Given the description of an element on the screen output the (x, y) to click on. 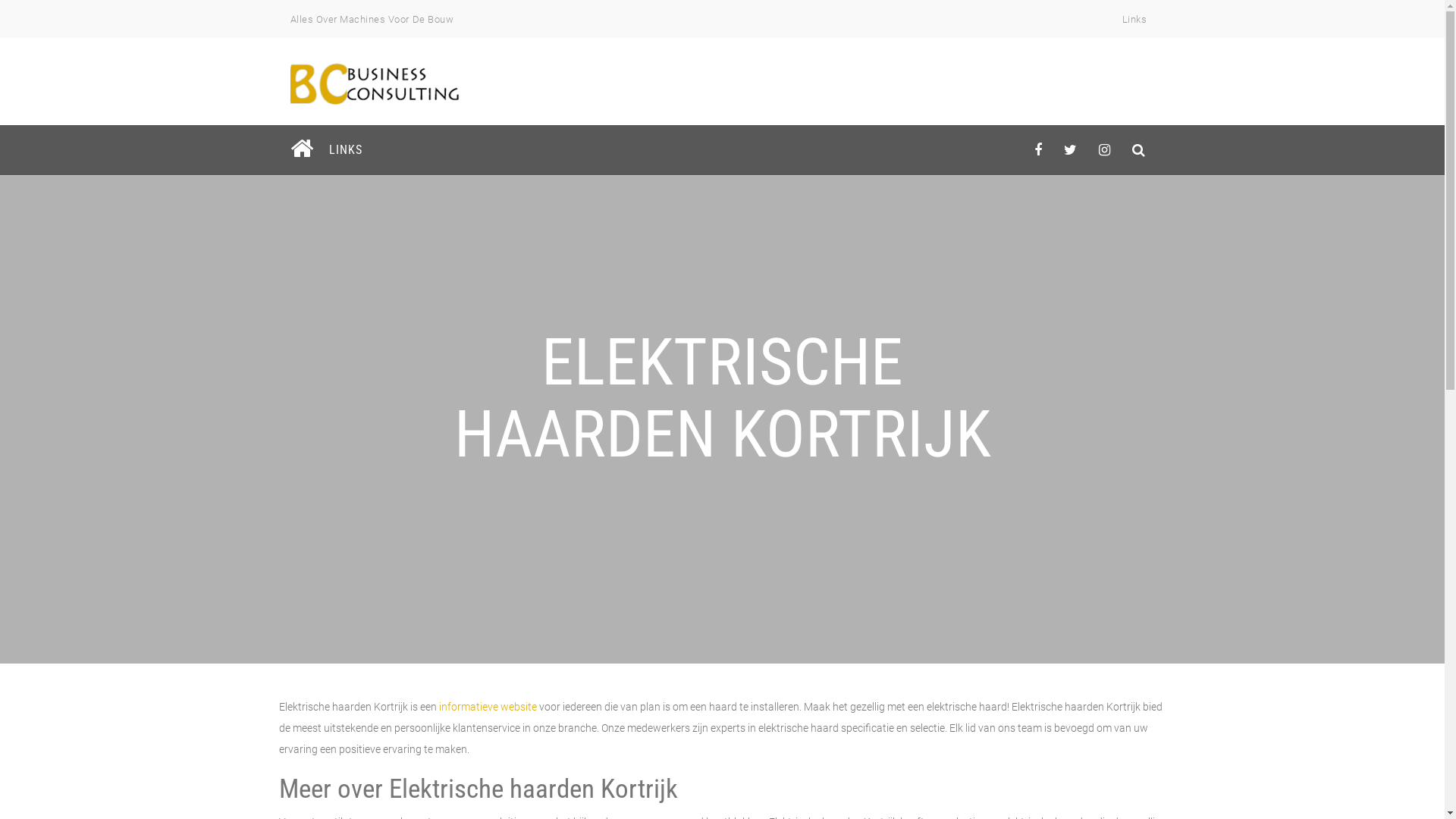
behance Element type: hover (1138, 149)
Links Element type: text (1134, 19)
informatieve website Element type: text (487, 706)
LINKS Element type: text (344, 149)
